Given the description of an element on the screen output the (x, y) to click on. 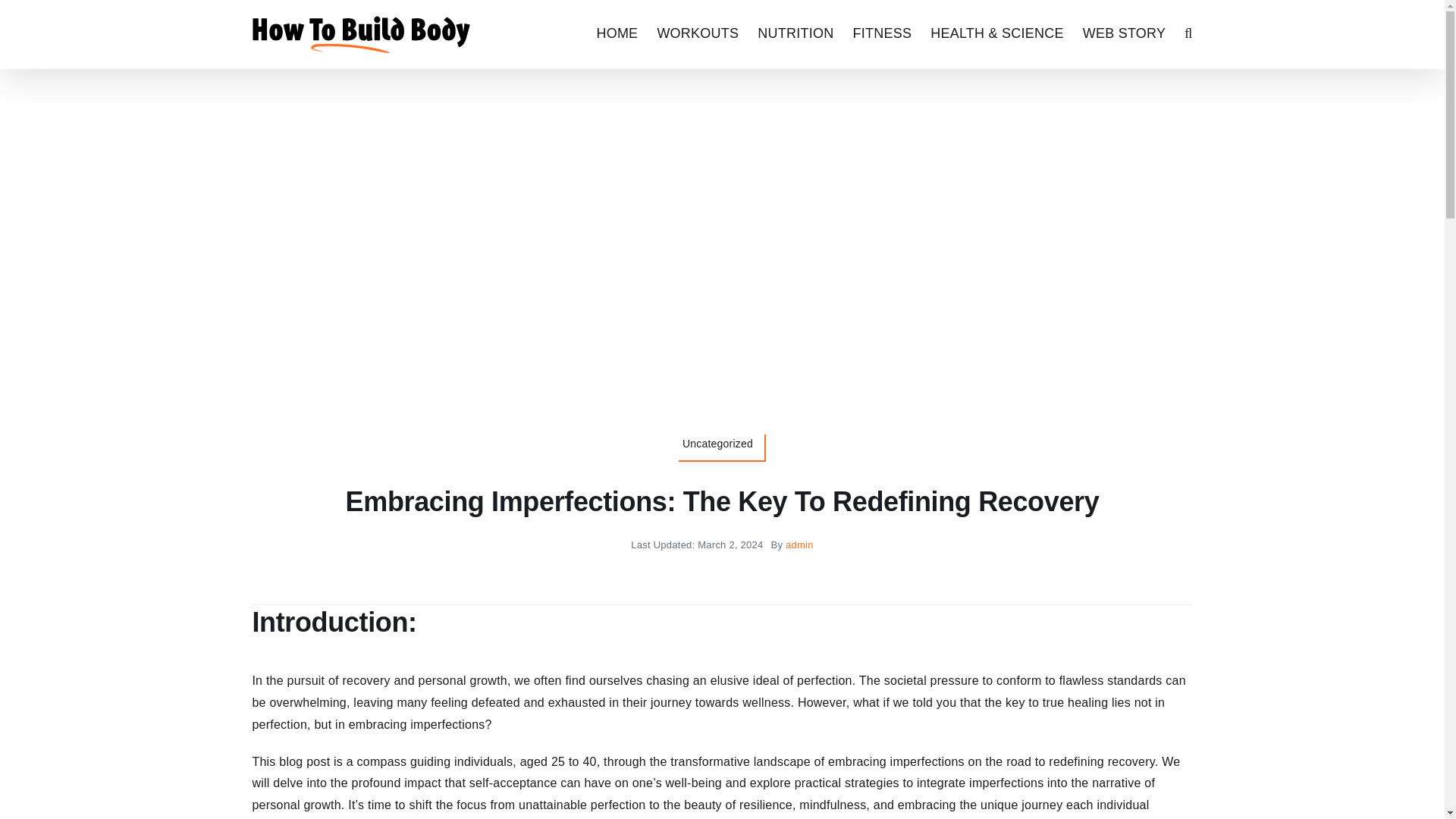
NUTRITION (794, 32)
WORKOUTS (697, 32)
FITNESS (881, 32)
admin (799, 544)
Posts by admin (799, 544)
WEB STORY (1124, 32)
Uncategorized (721, 447)
